Given the description of an element on the screen output the (x, y) to click on. 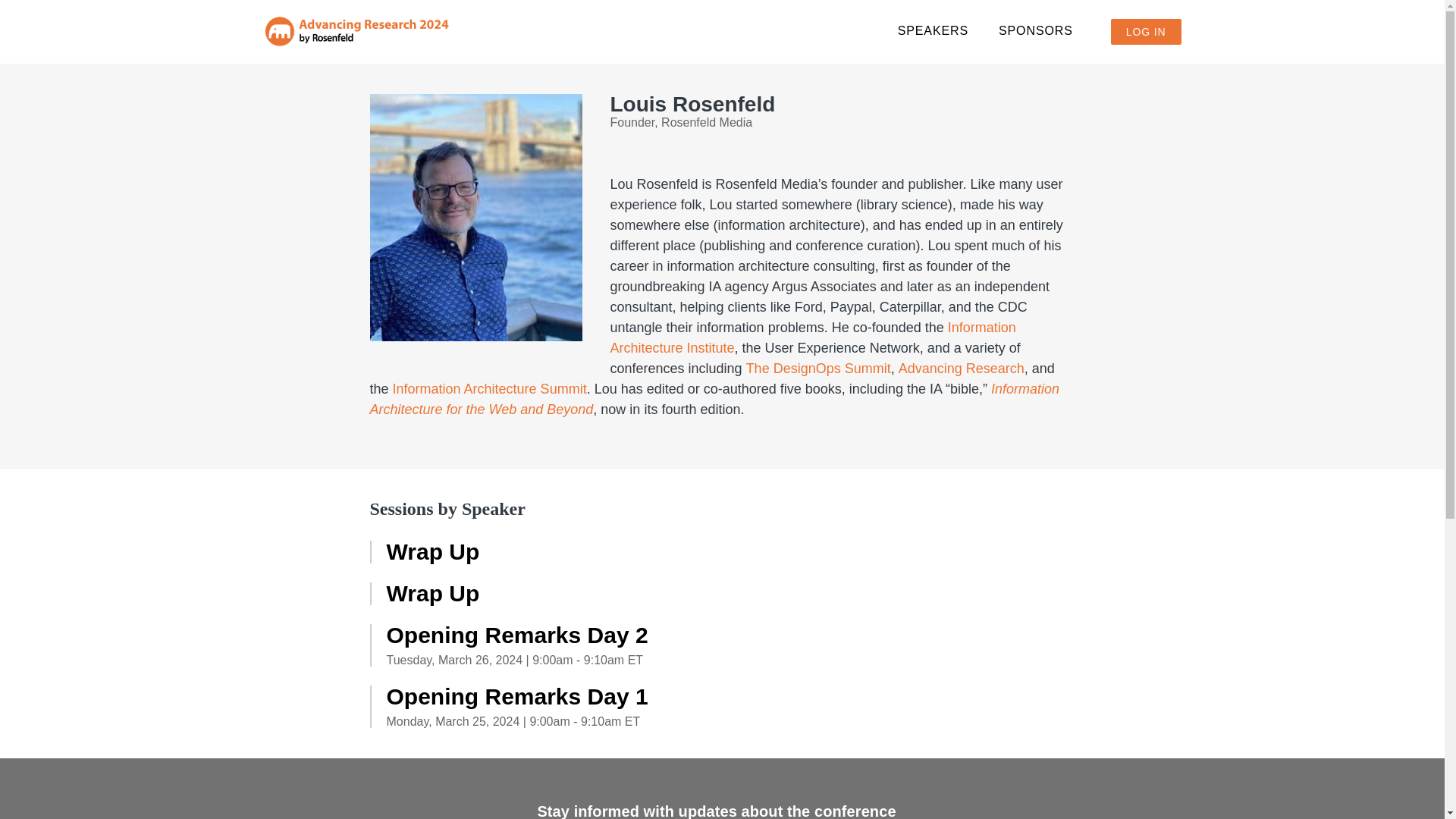
Information Architecture for the Web and Beyond (714, 398)
LOG IN (1145, 31)
Opening Remarks Day 1 (731, 696)
SPEAKERS (933, 31)
Information Architecture Summit (489, 388)
SPONSORS (1035, 31)
Advancing Research (961, 368)
Information Architecture Institute (812, 337)
Wrap Up (731, 593)
Wrap Up (731, 551)
